Given the description of an element on the screen output the (x, y) to click on. 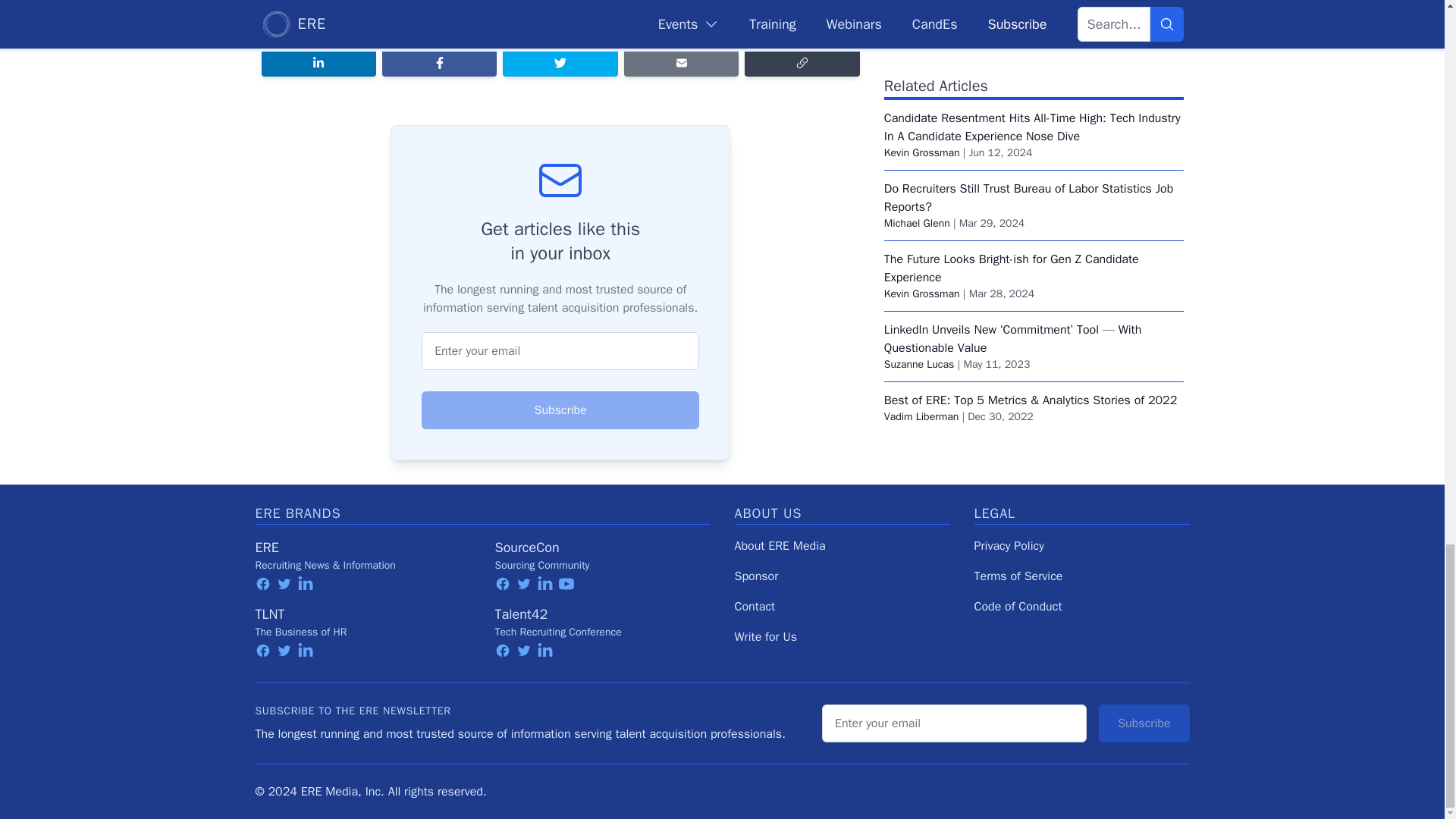
TLNT (268, 614)
Michael Glenn (916, 99)
The Future Looks Bright-ish for Gen Z Candidate Experience (1010, 144)
Kevin Grossman (921, 29)
Kevin Grossman (921, 169)
Suzanne Lucas (919, 240)
Vadim Liberman (920, 292)
linkedin (305, 583)
facebook (261, 583)
ERE (266, 547)
Subscribe (560, 410)
twitter (283, 583)
